Given the description of an element on the screen output the (x, y) to click on. 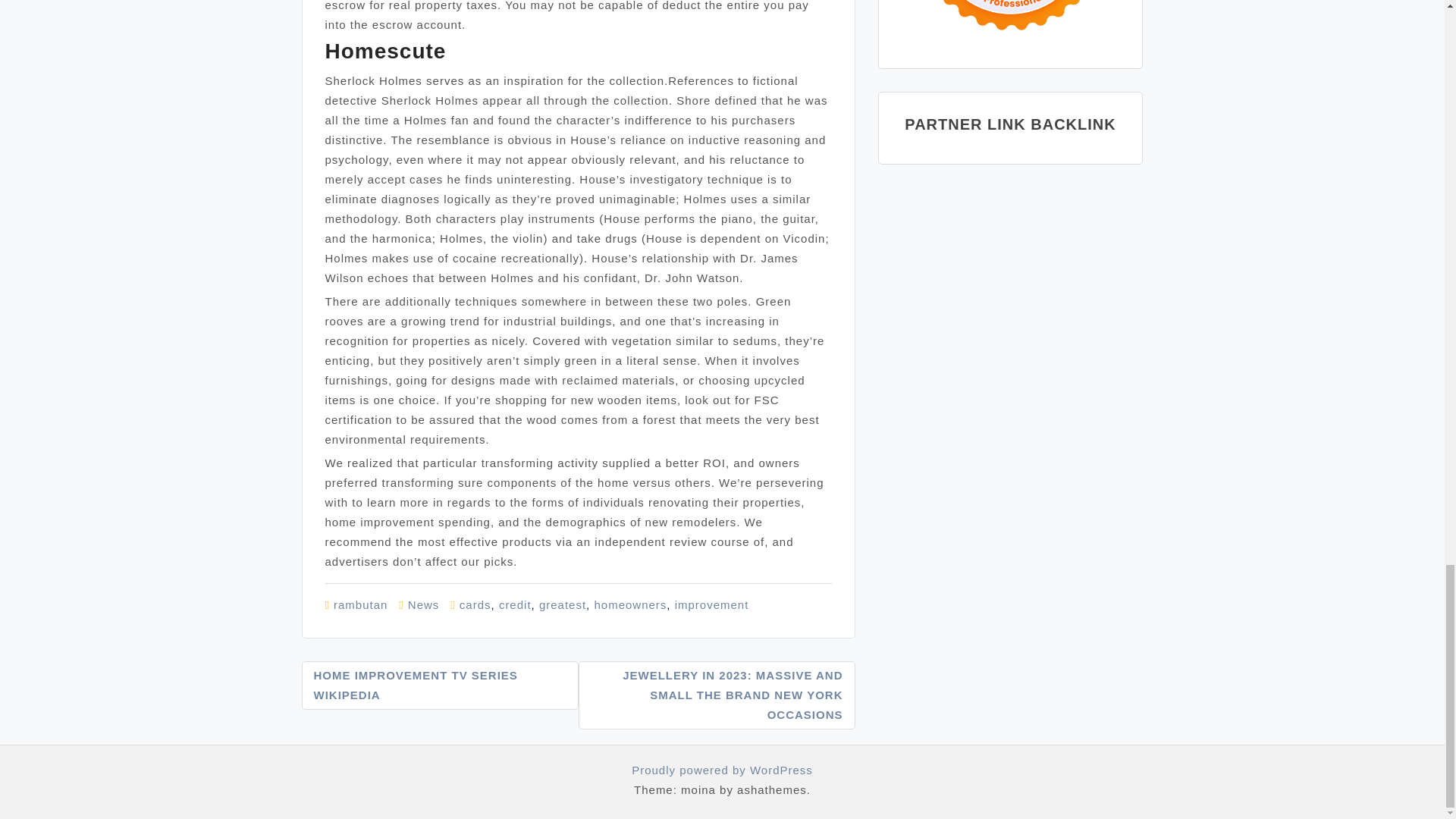
Seedbacklink (1010, 22)
News (423, 604)
cards (476, 604)
greatest (562, 604)
HOME IMPROVEMENT TV SERIES WIKIPEDIA (439, 685)
rambutan (360, 604)
homeowners (630, 604)
improvement (712, 604)
credit (515, 604)
